Given the description of an element on the screen output the (x, y) to click on. 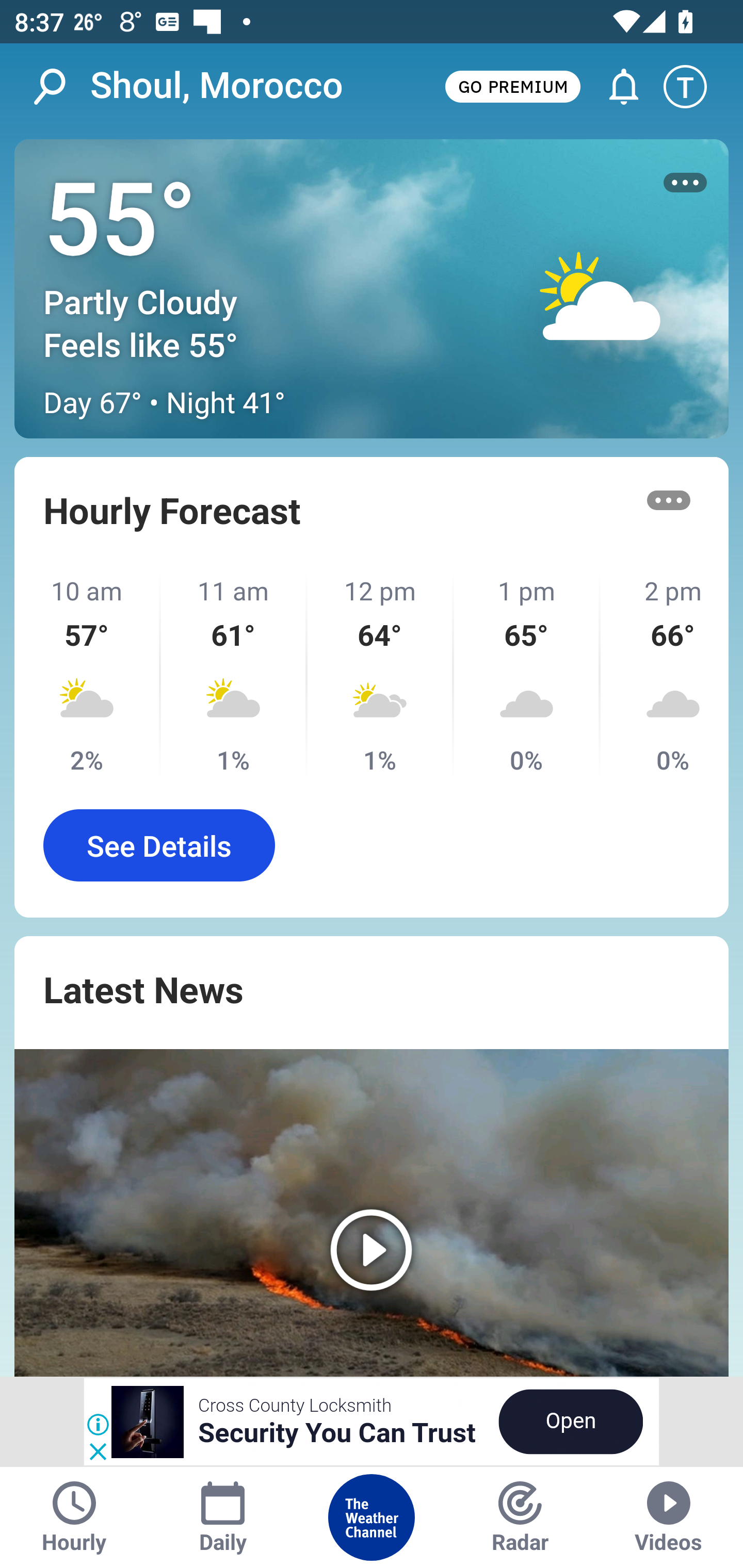
Search (59, 86)
Go to Alerts and Notifications (614, 86)
Setting icon T (694, 86)
Shoul, Morocco (216, 85)
GO PREMIUM (512, 85)
More options (684, 182)
More options (668, 500)
10 am 57° 2% (87, 674)
11 am 61° 1% (234, 674)
12 pm 64° 1% (380, 674)
1 pm 65° 0% (526, 674)
2 pm 66° 0% (664, 674)
See Details (158, 845)
Play (371, 1212)
Hourly Tab Hourly (74, 1517)
Daily Tab Daily (222, 1517)
Radar Tab Radar (519, 1517)
Videos Tab Videos (668, 1517)
